Given the description of an element on the screen output the (x, y) to click on. 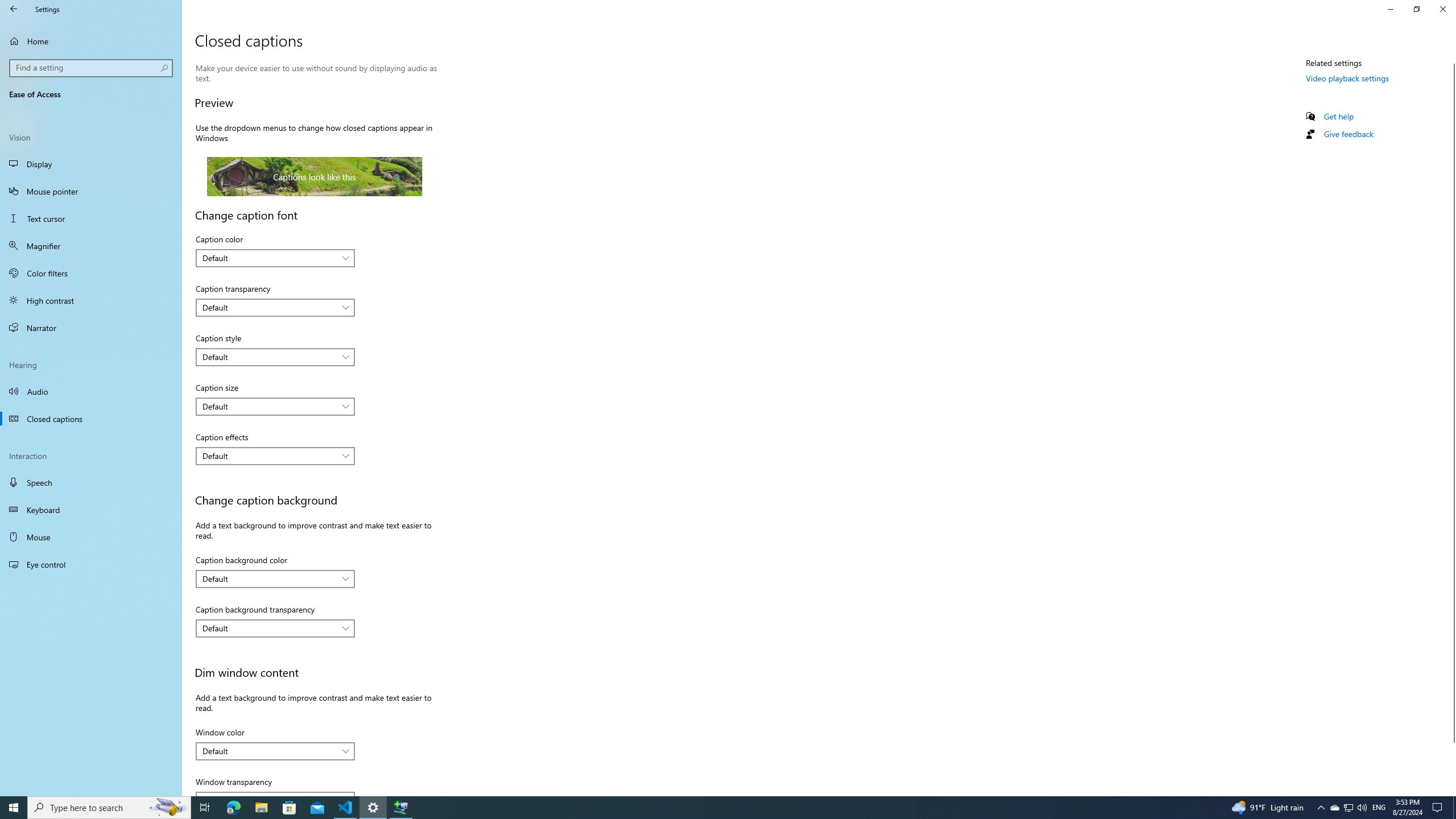
Mouse (91, 536)
Window color (275, 751)
Caption style (275, 357)
Narrator (91, 327)
Give feedback (1348, 133)
Vertical Large Increase (1451, 764)
Vertical Small Decrease (1451, 58)
